Given the description of an element on the screen output the (x, y) to click on. 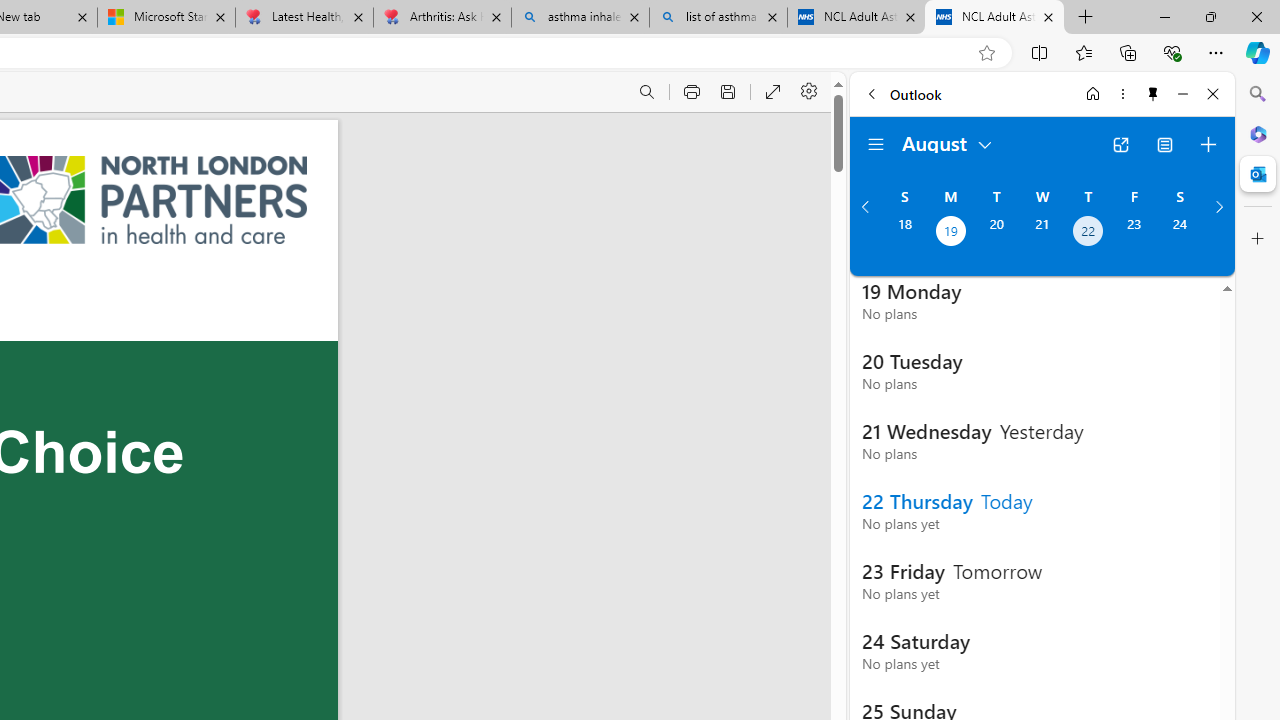
Enter PDF full screen (773, 92)
August (948, 141)
Tuesday, August 20, 2024.  (996, 233)
Customize (1258, 239)
Outlook (1258, 174)
Monday, August 19, 2024. Date selected.  (950, 233)
Microsoft Start (166, 17)
Arthritis: Ask Health Professionals (441, 17)
